Given the description of an element on the screen output the (x, y) to click on. 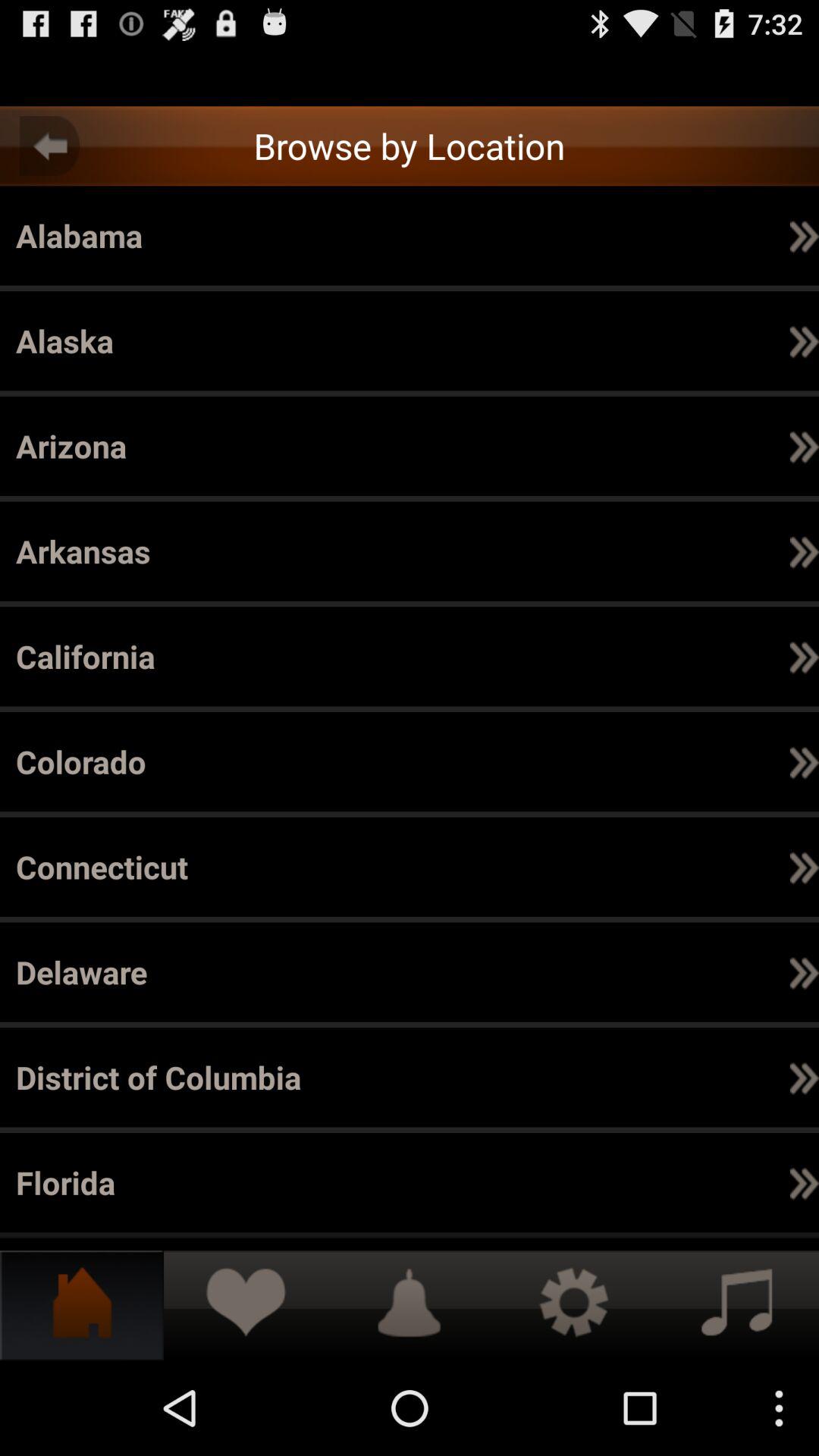
go to previous (49, 145)
